Given the description of an element on the screen output the (x, y) to click on. 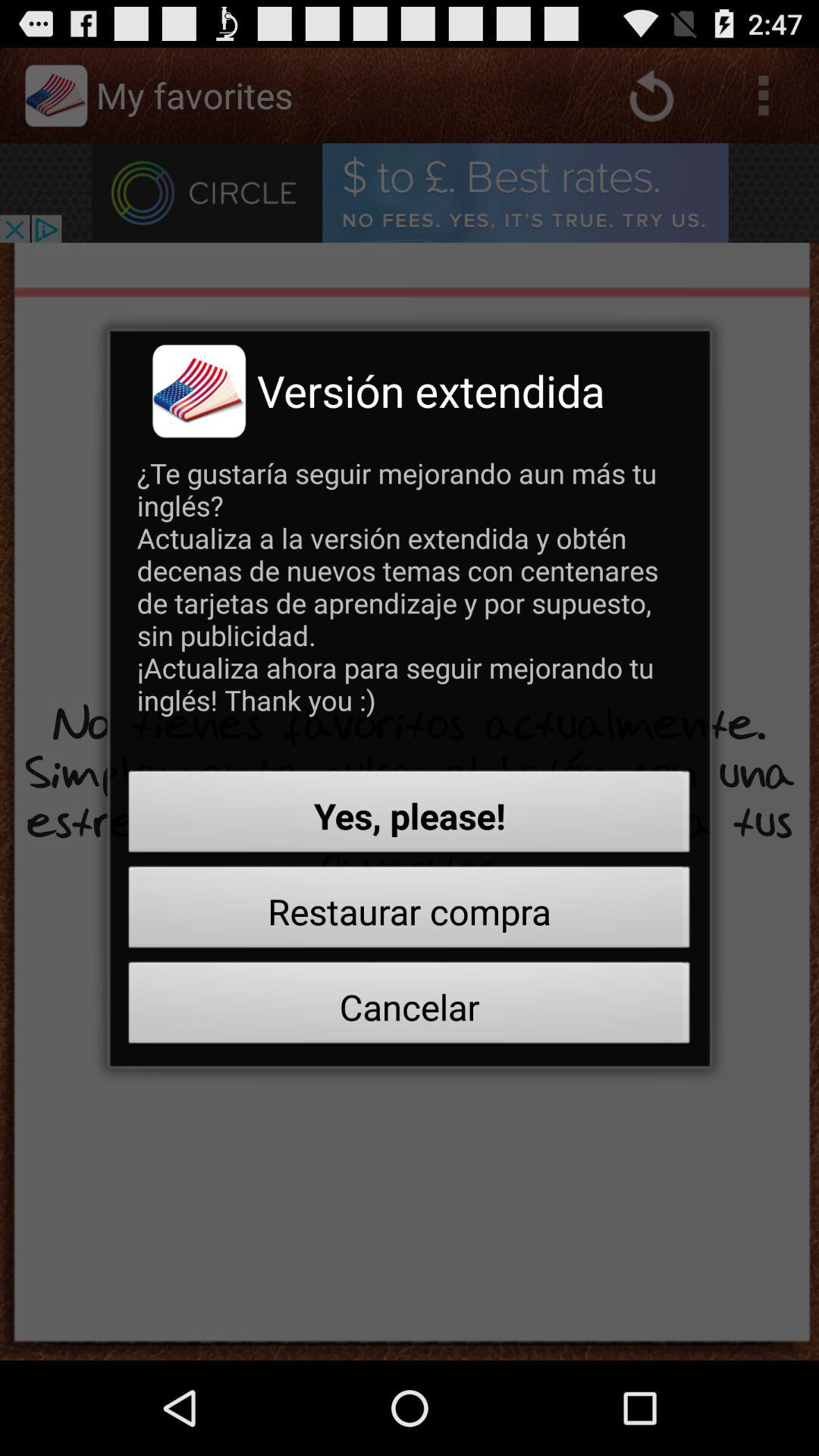
swipe to the cancelar button (409, 1007)
